Given the description of an element on the screen output the (x, y) to click on. 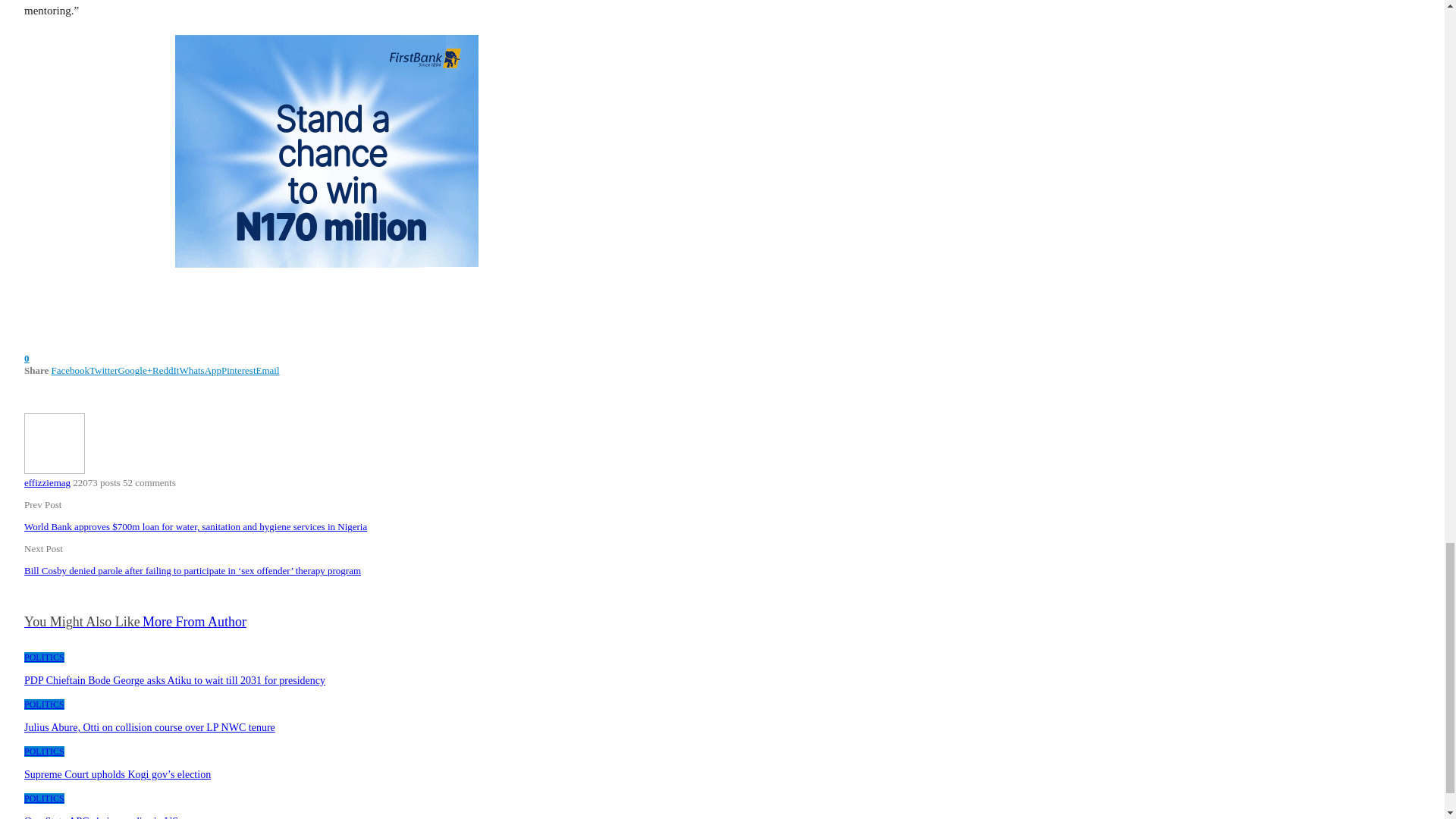
Julius Abure, Otti on collision course over LP NWC tenure (149, 727)
Browse Author Articles (54, 470)
